Given the description of an element on the screen output the (x, y) to click on. 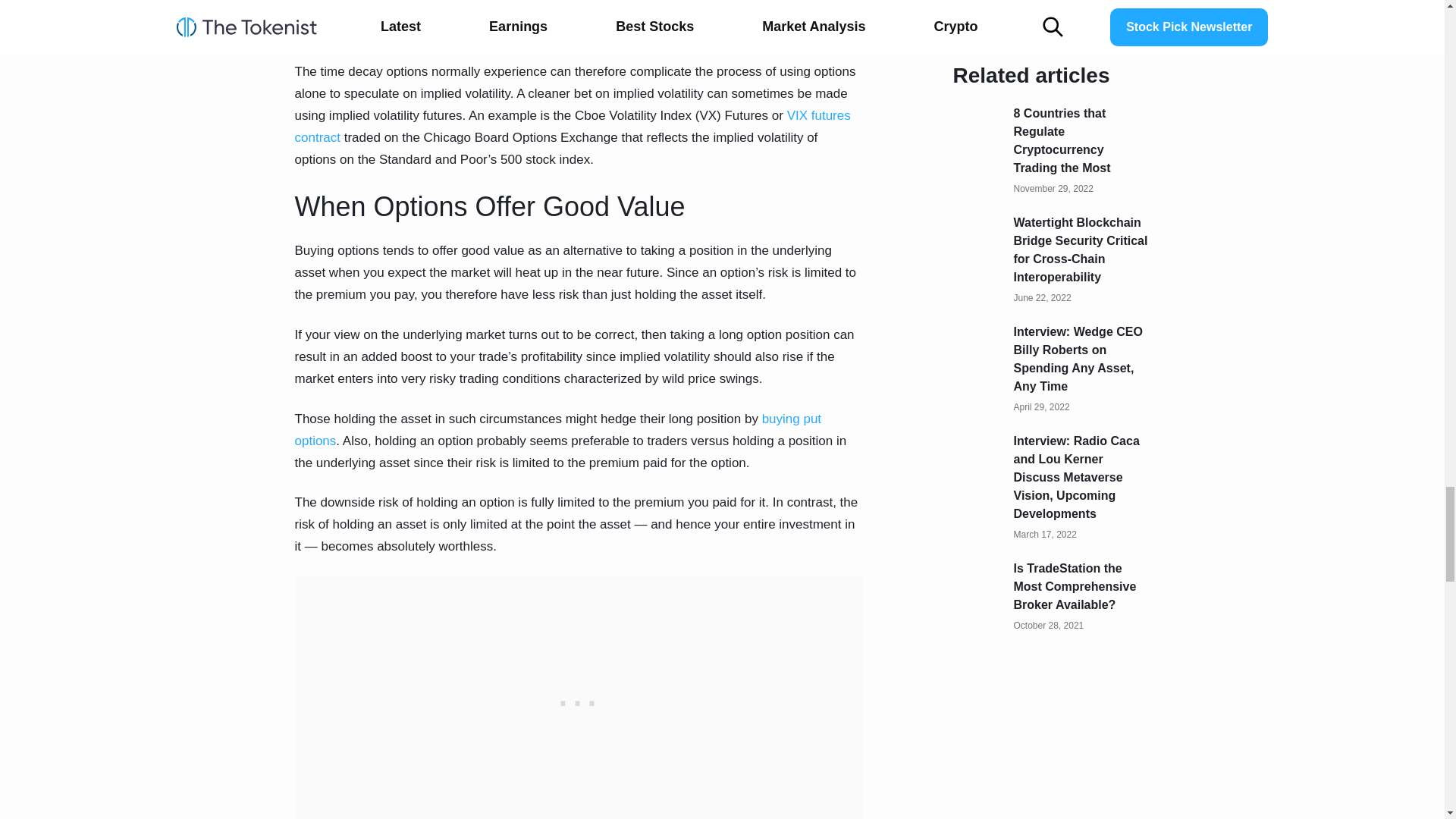
VIX futures contract (572, 126)
buying put options (557, 429)
